Given the description of an element on the screen output the (x, y) to click on. 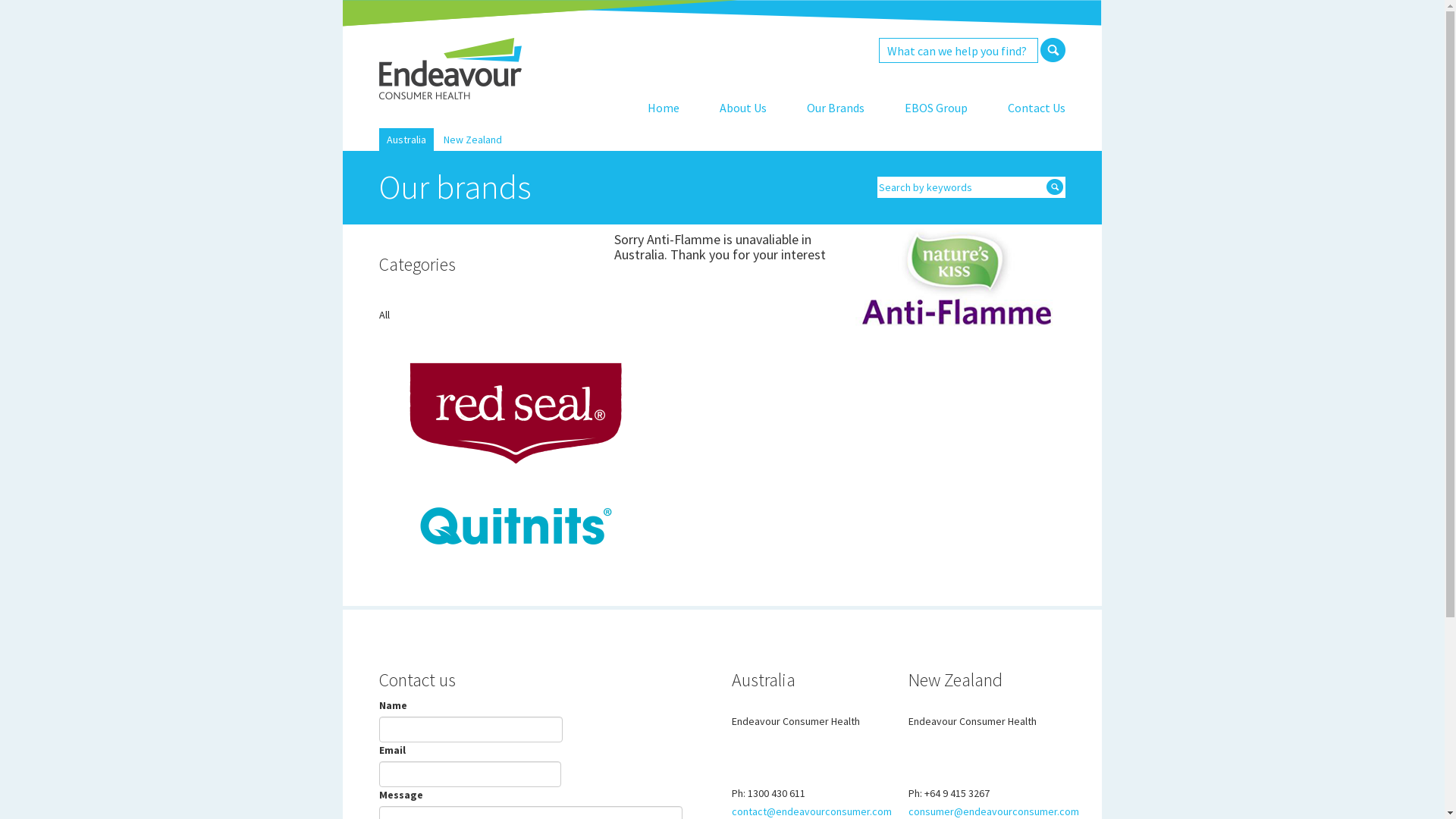
contact@endeavourconsumer.com Element type: text (811, 811)
All Element type: text (384, 314)
Australia Element type: text (406, 139)
Our Brands Element type: text (835, 107)
Home Element type: text (663, 107)
Contact Us Element type: text (1036, 107)
About Us Element type: text (742, 107)
EBOS Group Element type: text (935, 107)
consumer@endeavourconsumer.com Element type: text (993, 811)
New Zealand Element type: text (472, 139)
